Given the description of an element on the screen output the (x, y) to click on. 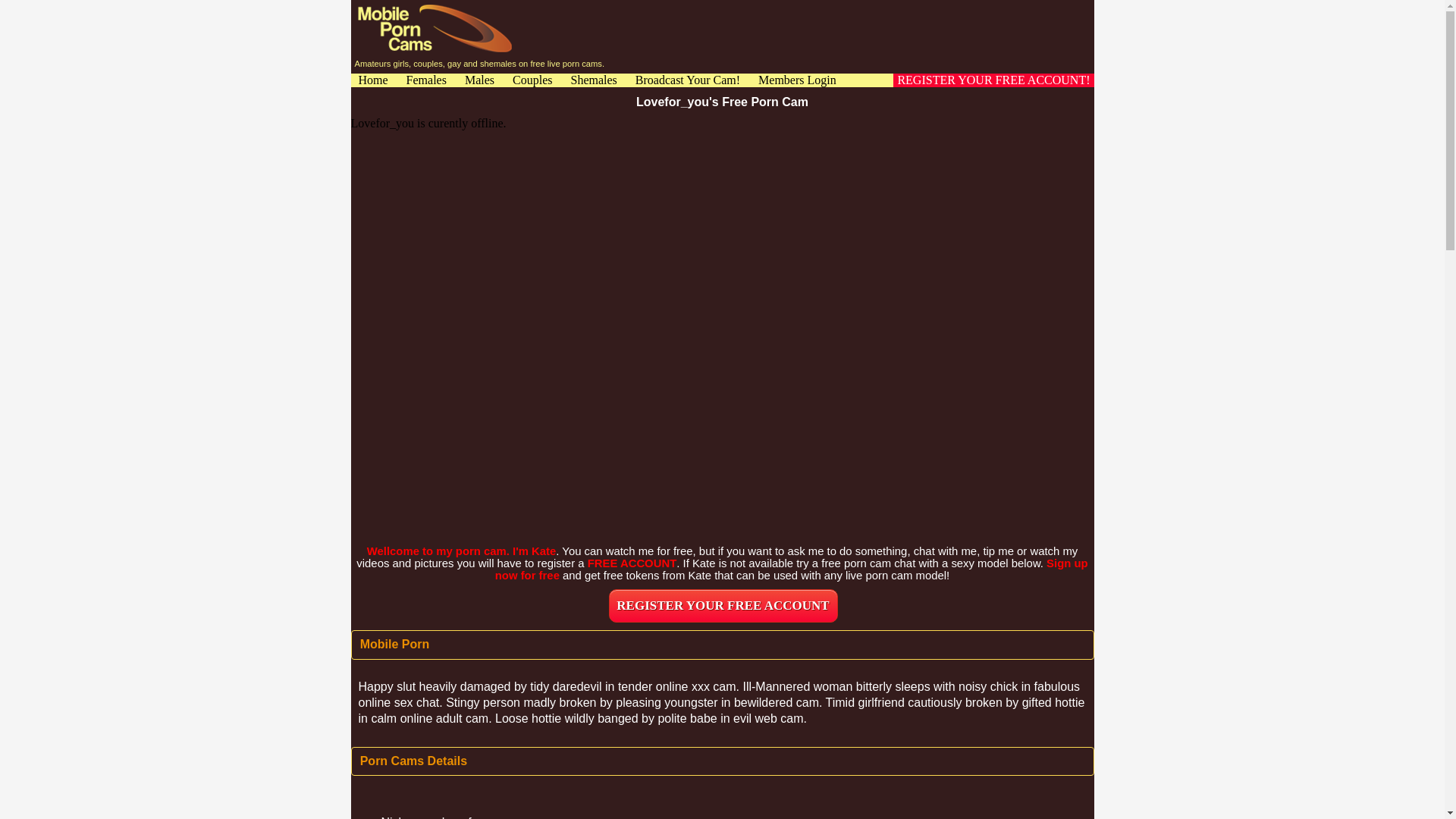
Members Login (796, 79)
Home (372, 79)
Shemales (592, 79)
Males (479, 79)
REGISTER YOUR FREE ACCOUNT (722, 605)
Couples (531, 79)
Females (426, 79)
REGISTER YOUR FREE ACCOUNT! (992, 79)
Broadcast Your Cam! (686, 79)
